Given the description of an element on the screen output the (x, y) to click on. 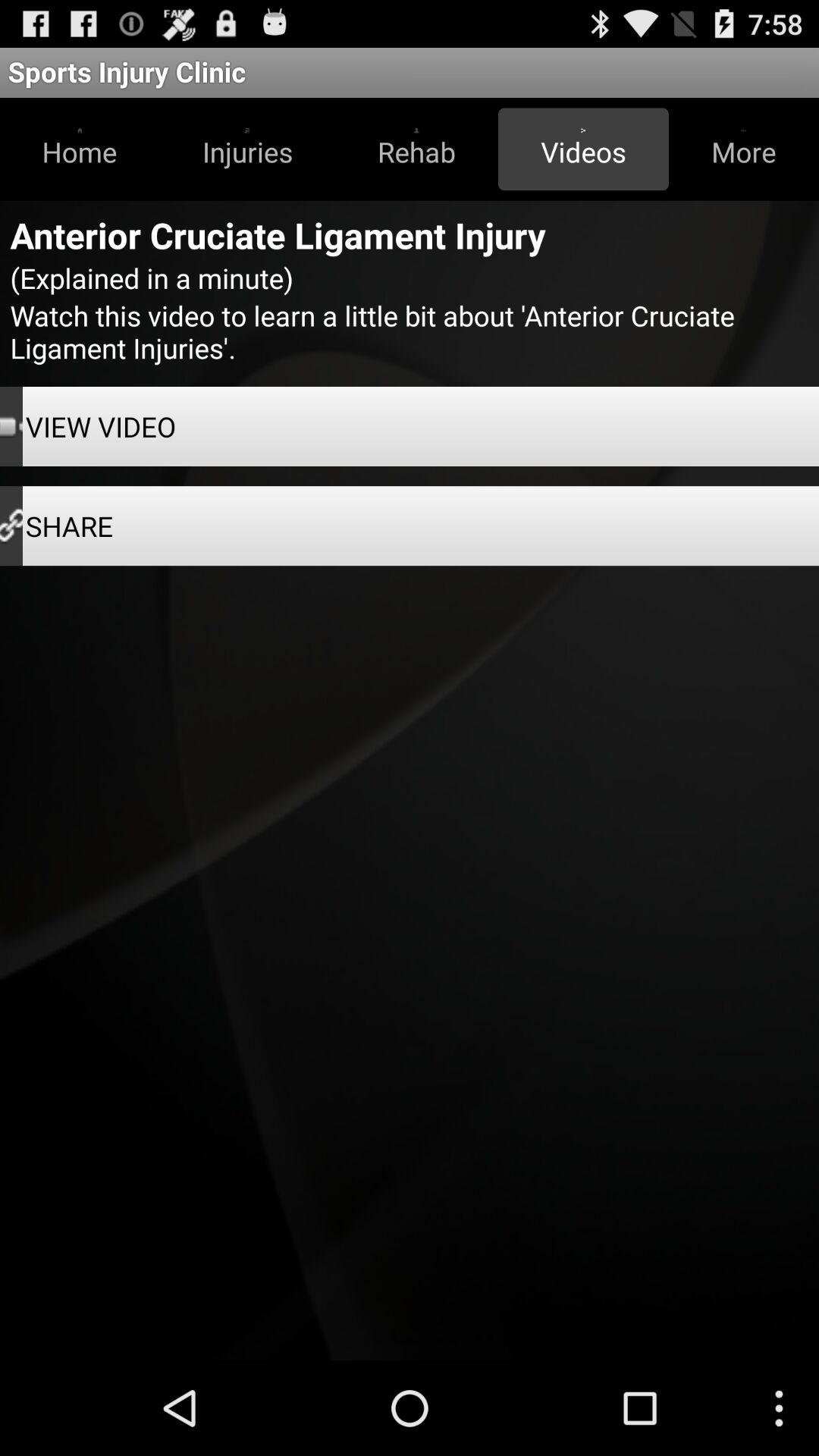
scroll until rehab button (416, 149)
